Given the description of an element on the screen output the (x, y) to click on. 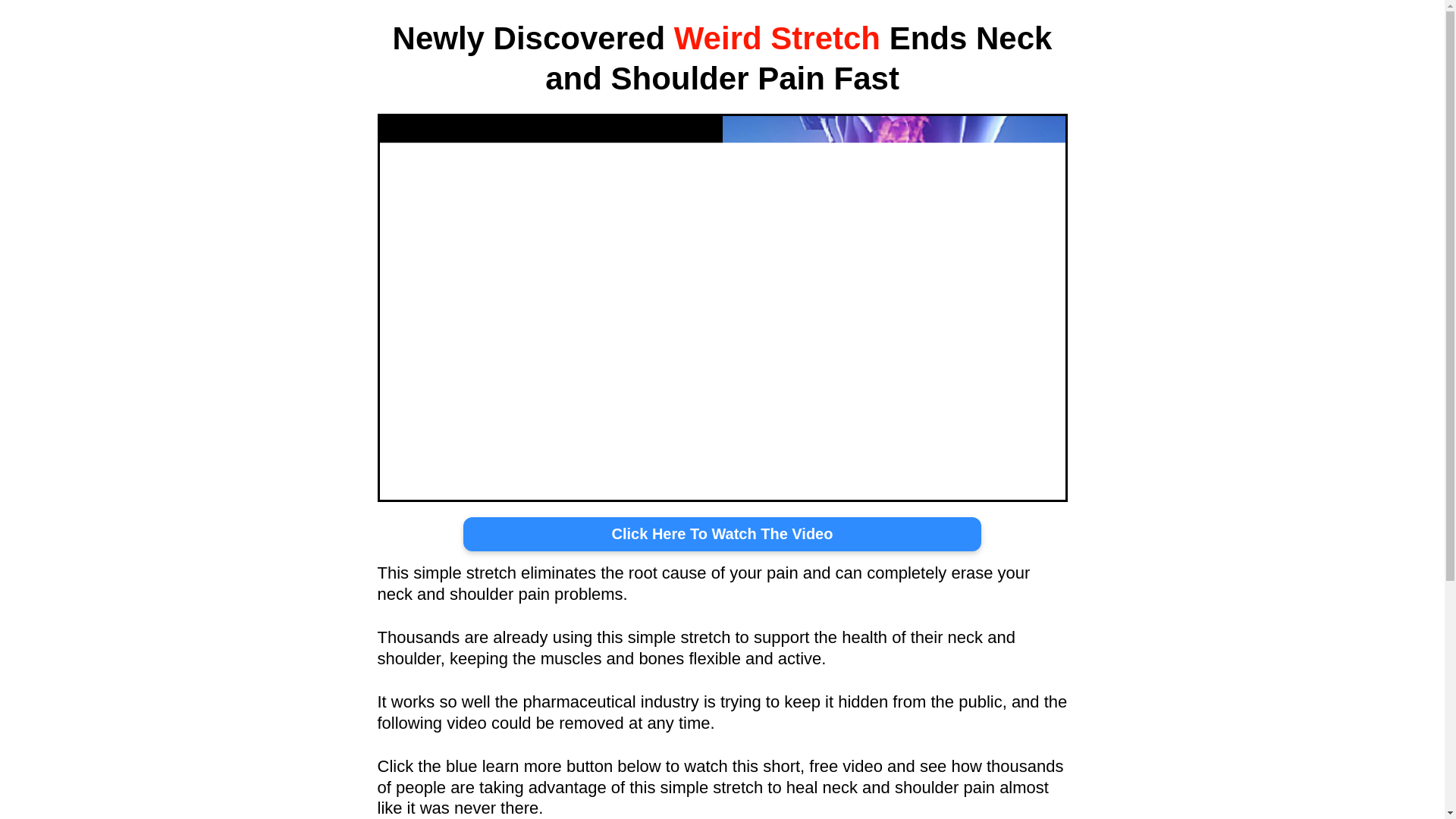
Click Here To Watch The Video (722, 533)
